Given the description of an element on the screen output the (x, y) to click on. 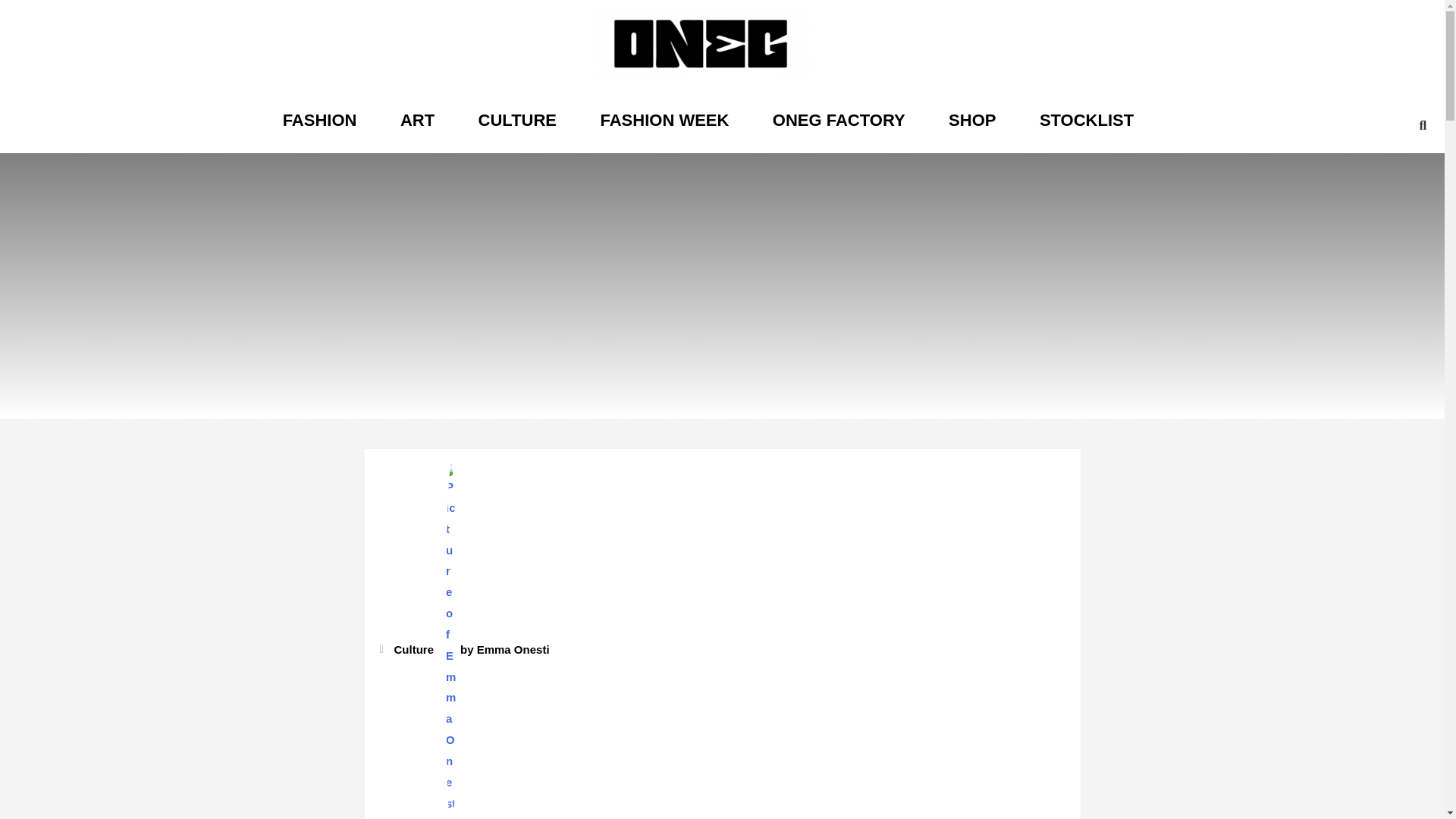
FASHION (319, 120)
ONEG FACTORY (838, 120)
Art (417, 120)
FASHION WEEK (664, 120)
STOCKLIST (1086, 120)
SHOP (971, 120)
Culture (413, 649)
CULTURE (517, 120)
Culture (517, 120)
Fashion (319, 120)
ART (417, 120)
